Given the description of an element on the screen output the (x, y) to click on. 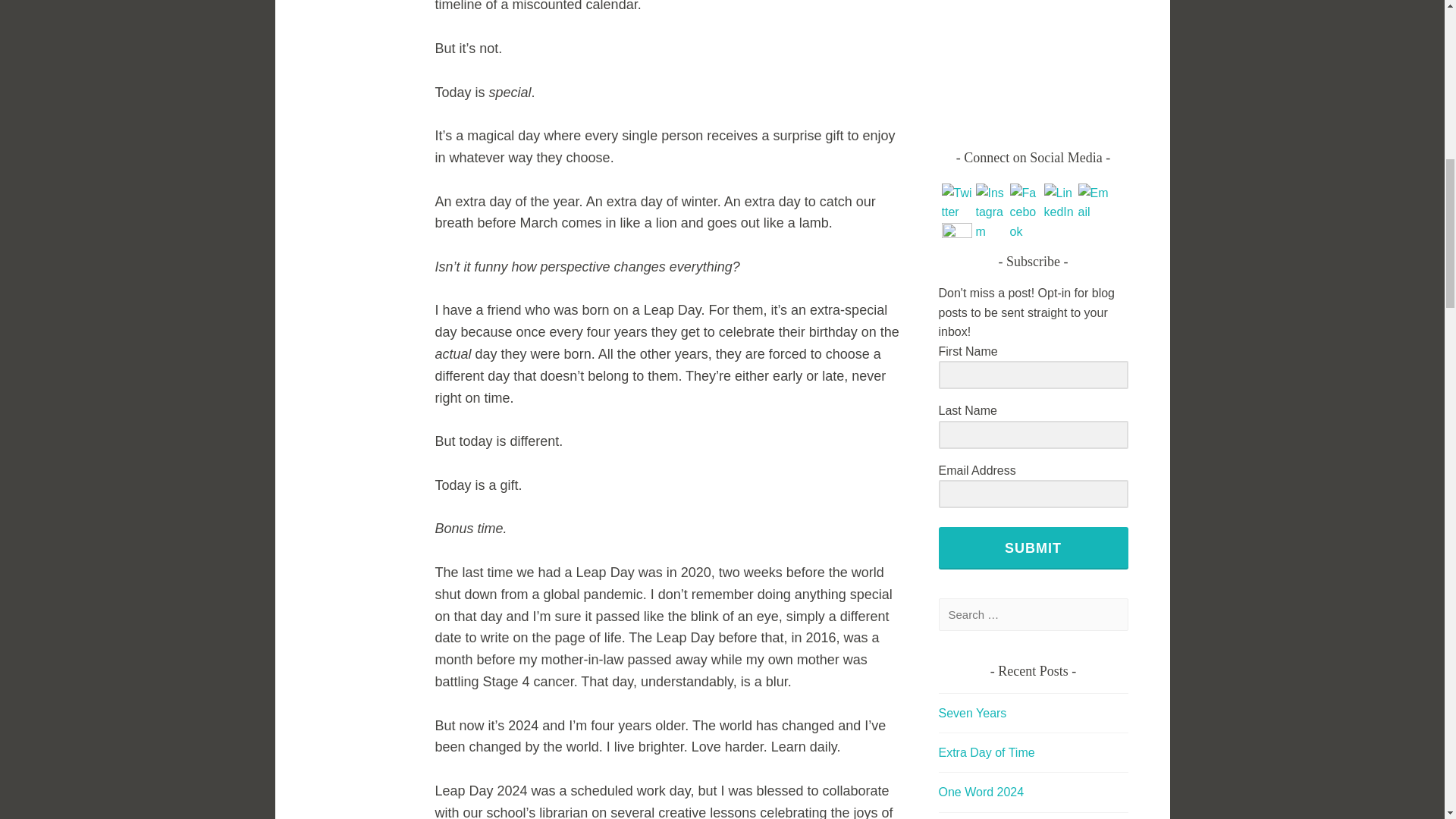
Seven Years (973, 712)
SUBMIT (1033, 548)
Extra Day of Time (987, 752)
